Given the description of an element on the screen output the (x, y) to click on. 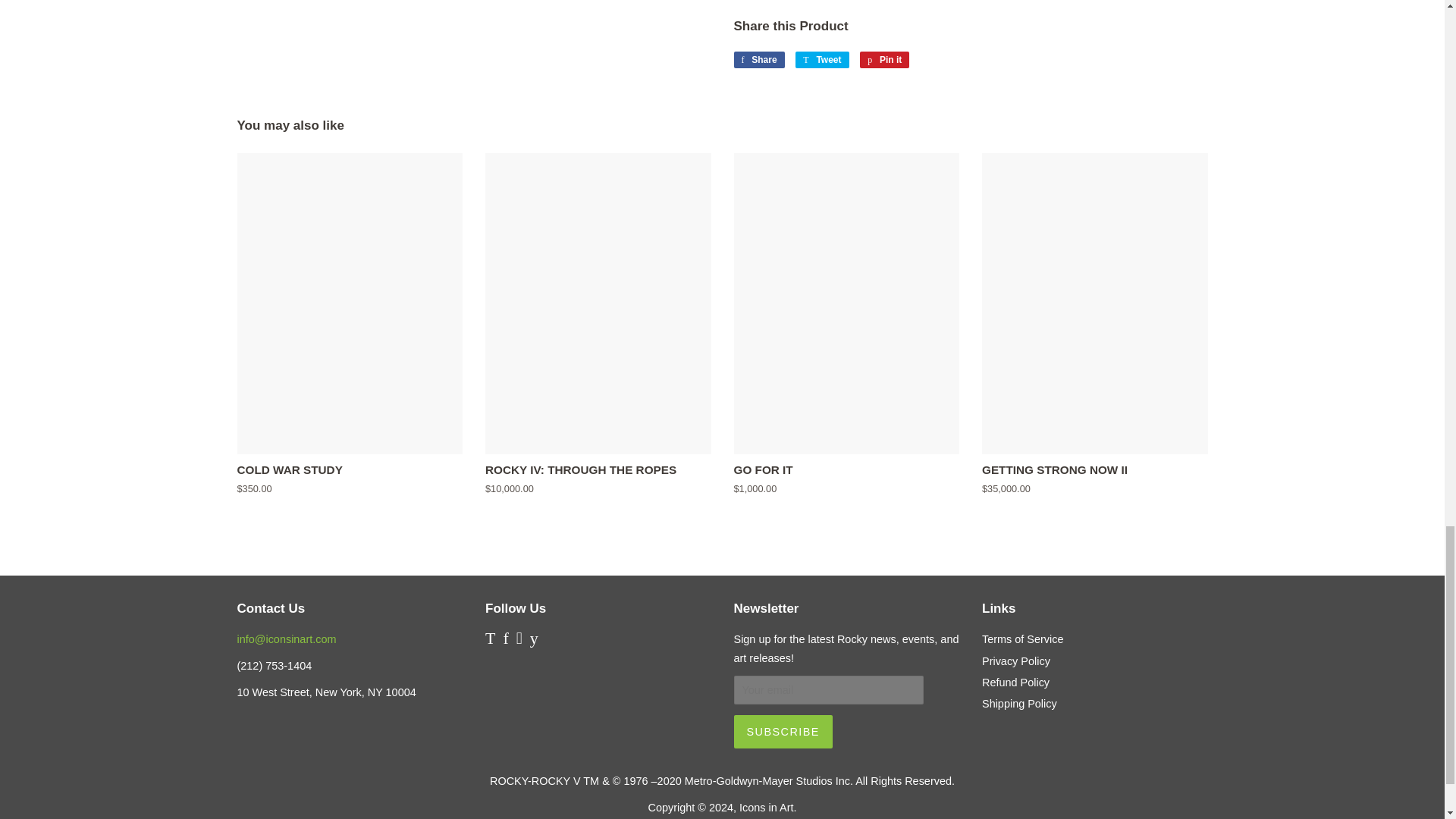
Share on Facebook (758, 59)
Pin on Pinterest (884, 59)
Tweet on Twitter (821, 59)
Subscribe (782, 731)
